Given the description of an element on the screen output the (x, y) to click on. 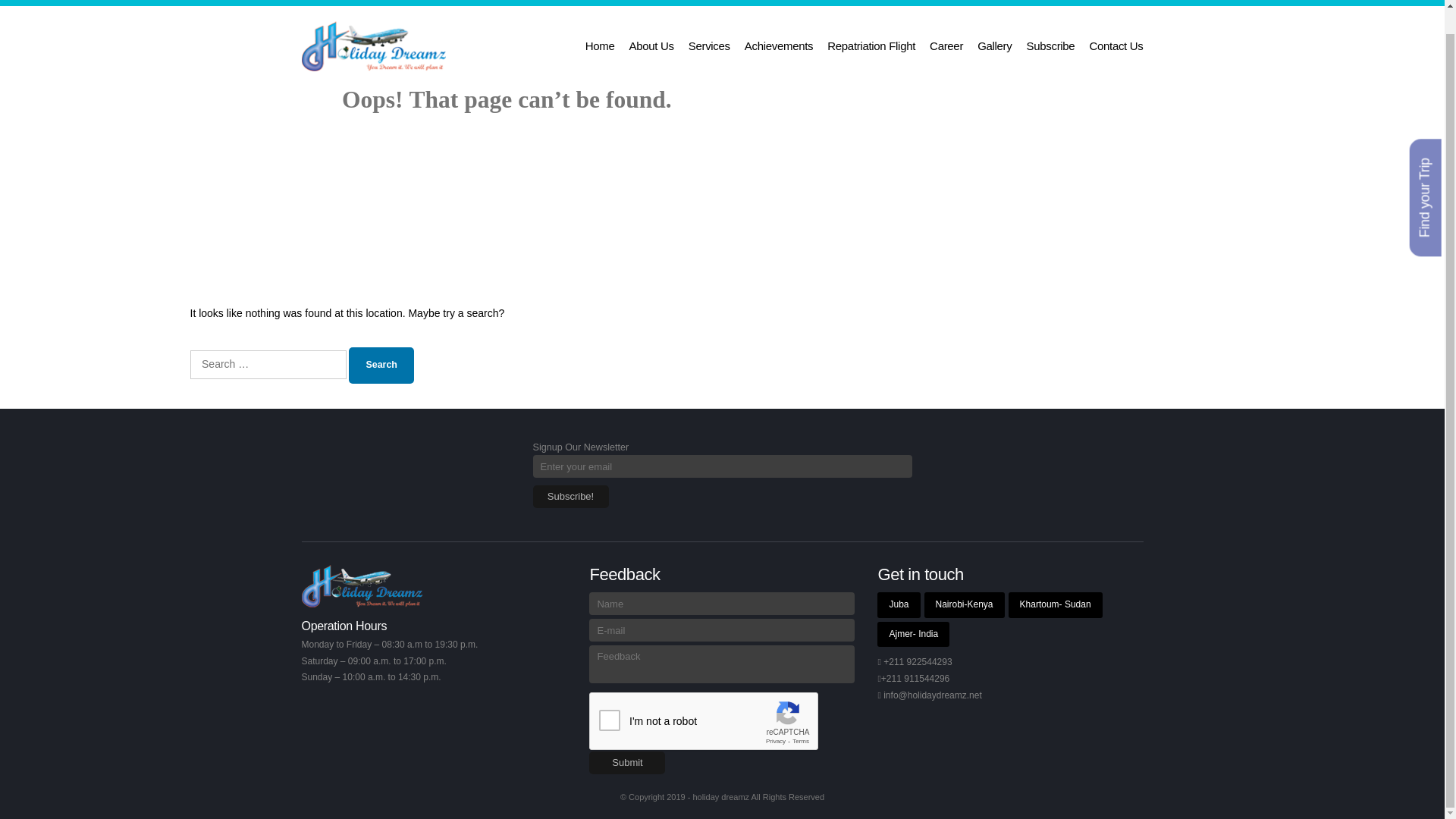
Contact Us (1115, 45)
Subscribe (1050, 45)
Submit (627, 762)
Juba (898, 605)
Career (946, 45)
Gallery (993, 45)
Home (599, 45)
About Us (650, 45)
Search (381, 365)
reCAPTCHA (704, 721)
